Given the description of an element on the screen output the (x, y) to click on. 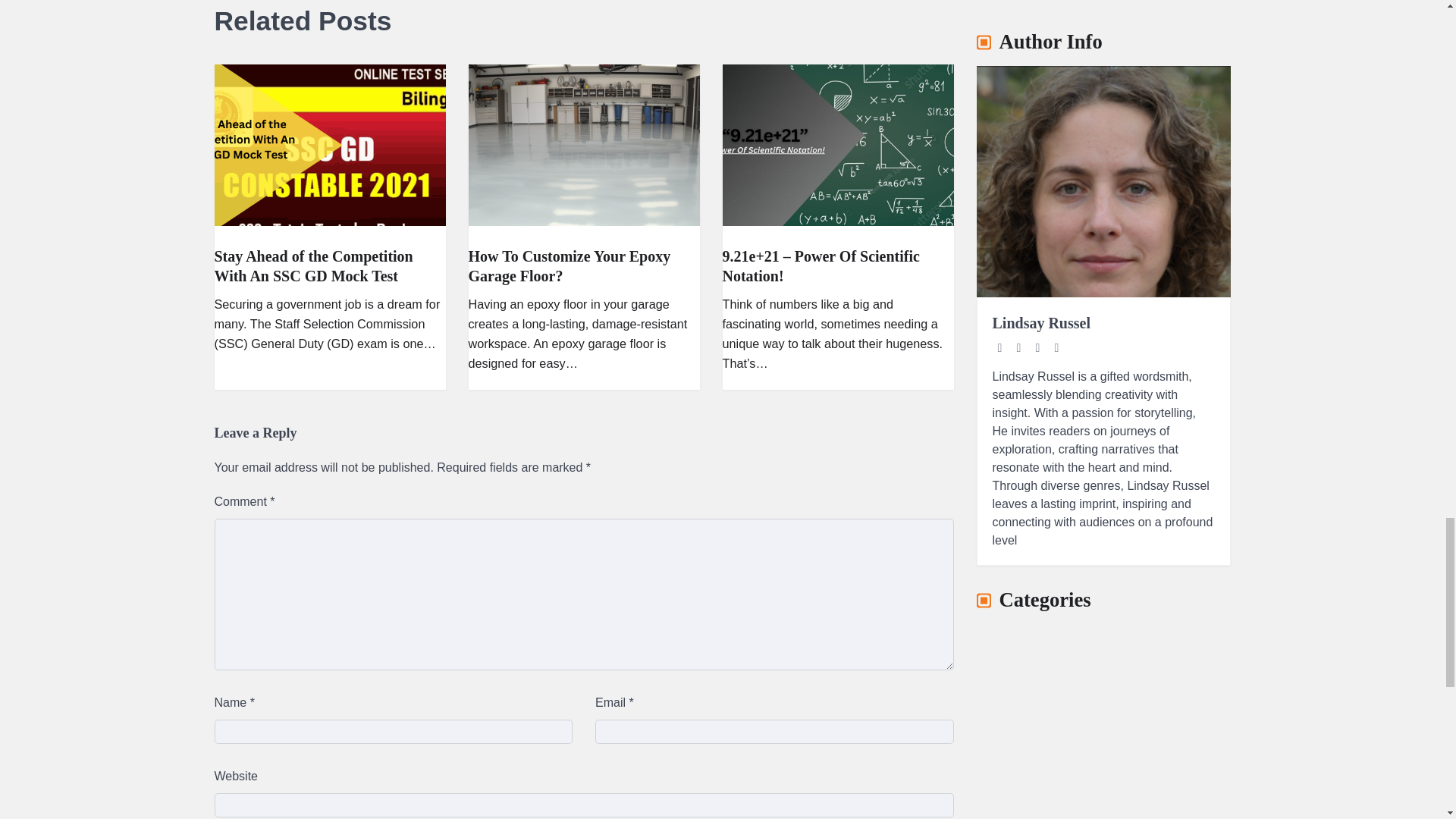
Stay Ahead of the Competition With An SSC GD Mock Test (313, 266)
How To Customize Your Epoxy Garage Floor? (569, 266)
